Given the description of an element on the screen output the (x, y) to click on. 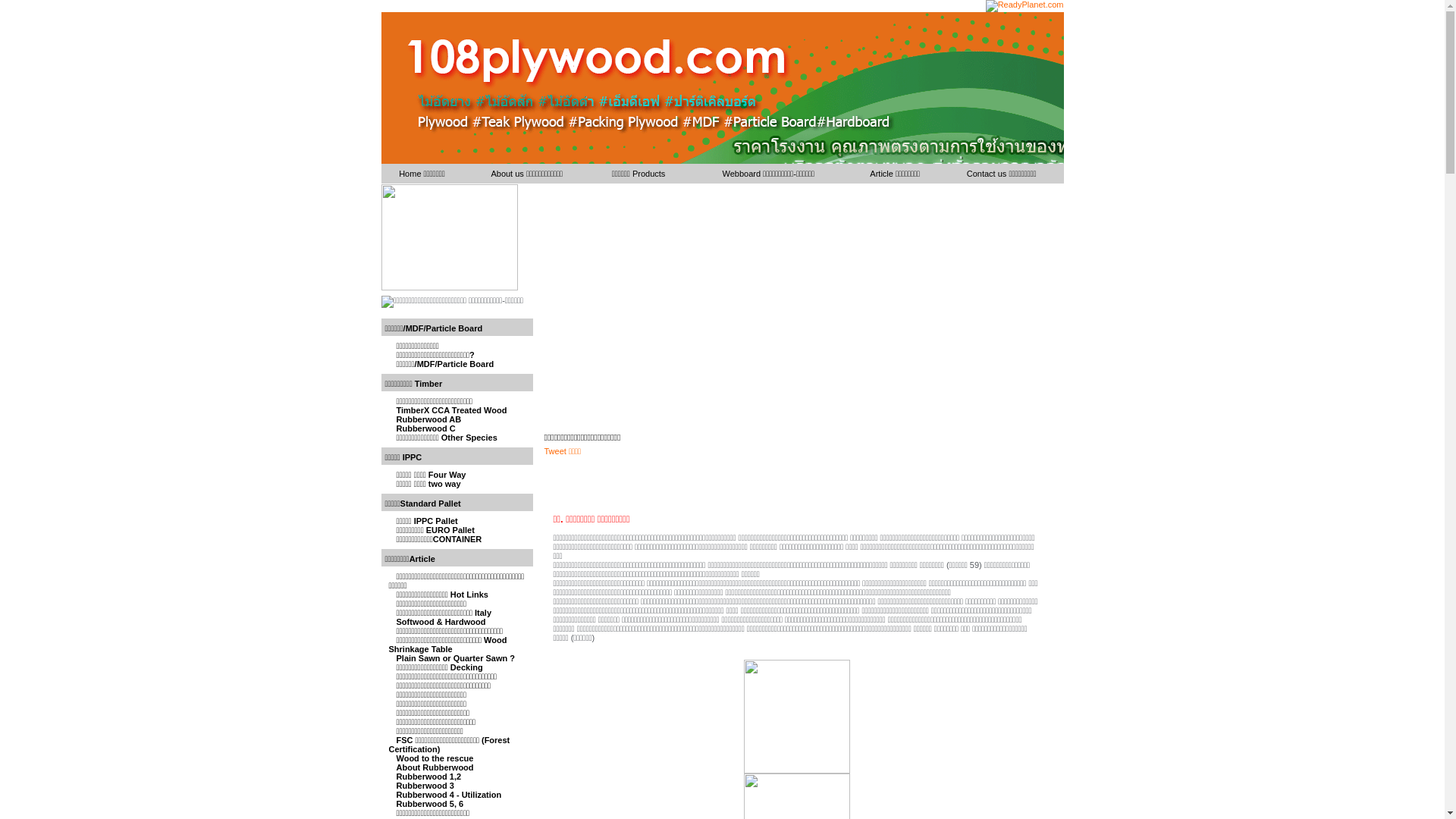
Plain Sawn or Quarter Sawn ? Element type: text (454, 657)
Rubberwood 5, 6 Element type: text (429, 803)
Rubberwood C Element type: text (425, 428)
Rubberwood 3 Element type: text (424, 785)
TimberX CCA Treated Wood Element type: text (450, 409)
Wood to the rescue Element type: text (434, 757)
ReadyPlanet.com Element type: hover (1024, 6)
Rubberwood AB Element type: text (428, 418)
Rubberwood 4 - Utilization Element type: text (448, 794)
Rubberwood 1,2 Element type: text (428, 776)
Advertisement Element type: hover (797, 309)
Softwood & Hardwood Element type: text (440, 621)
About Rubberwood Element type: text (434, 766)
